Given the description of an element on the screen output the (x, y) to click on. 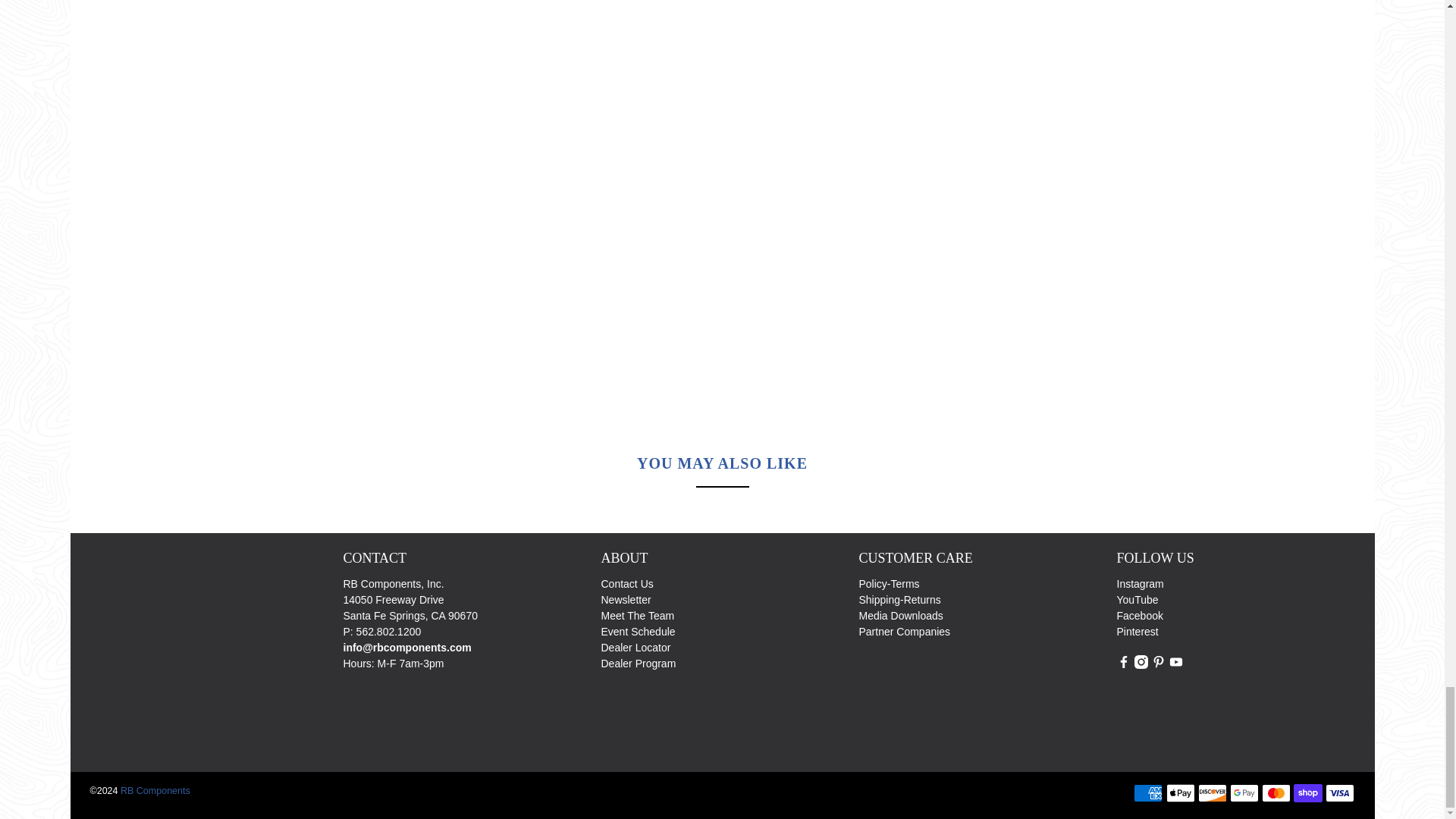
Discover (1212, 792)
American Express (1147, 792)
RB Components (205, 651)
Google Pay (1244, 792)
Apple Pay (1180, 792)
